Given the description of an element on the screen output the (x, y) to click on. 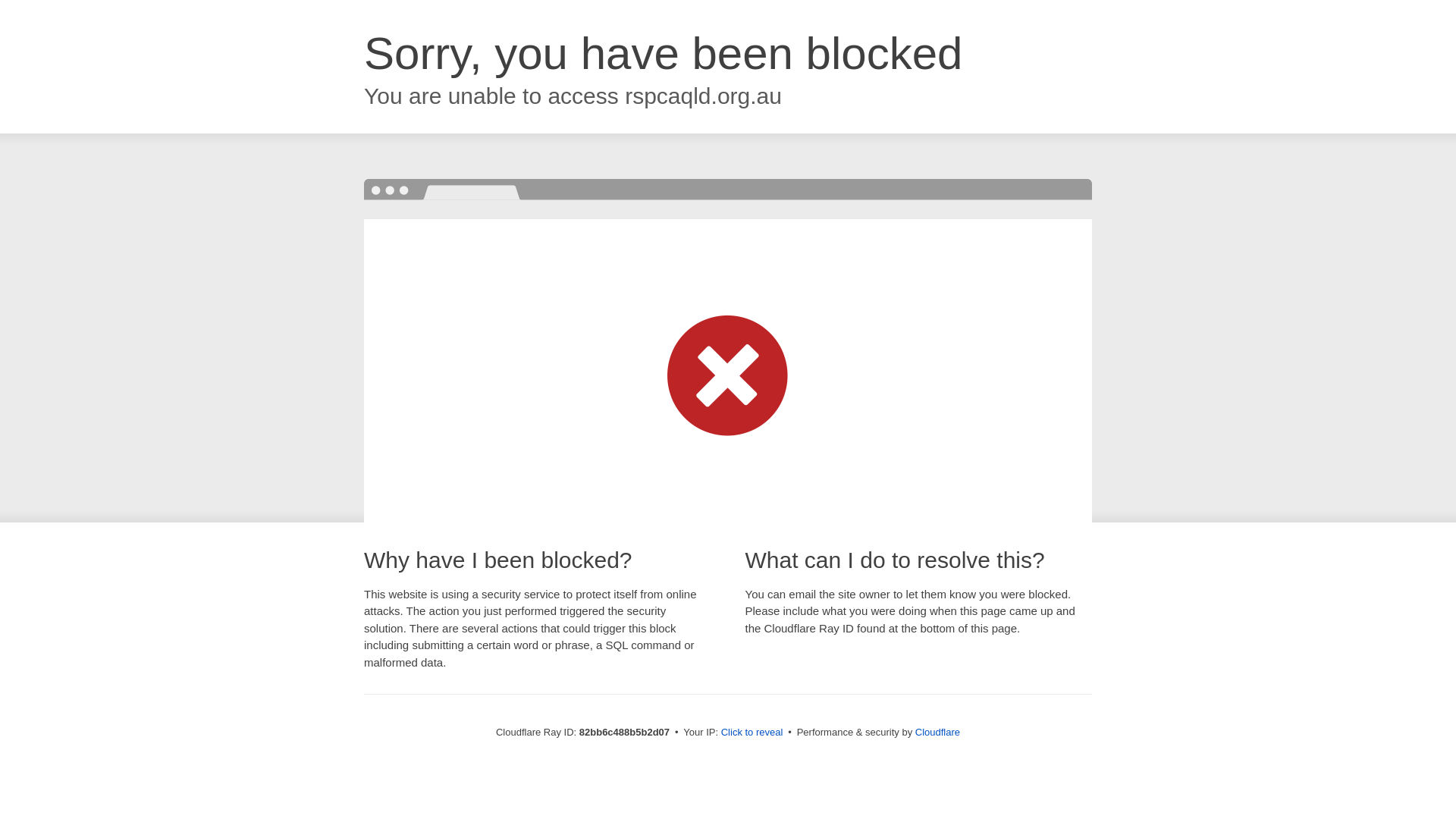
Click to reveal Element type: text (752, 732)
Cloudflare Element type: text (937, 731)
